Given the description of an element on the screen output the (x, y) to click on. 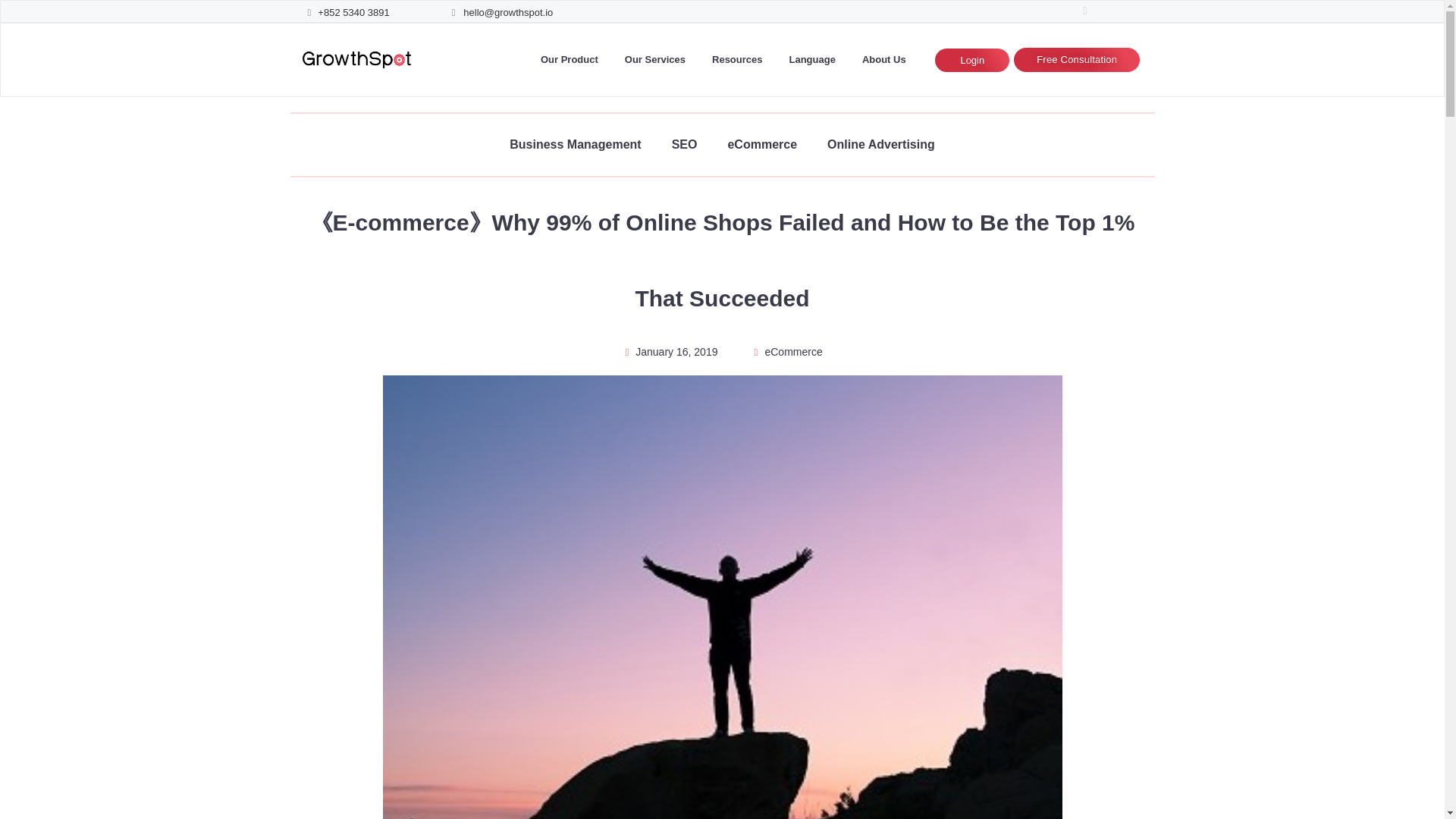
About Us (887, 59)
Our Product (573, 59)
Our Services (658, 59)
Resources (740, 59)
Language (815, 59)
